Given the description of an element on the screen output the (x, y) to click on. 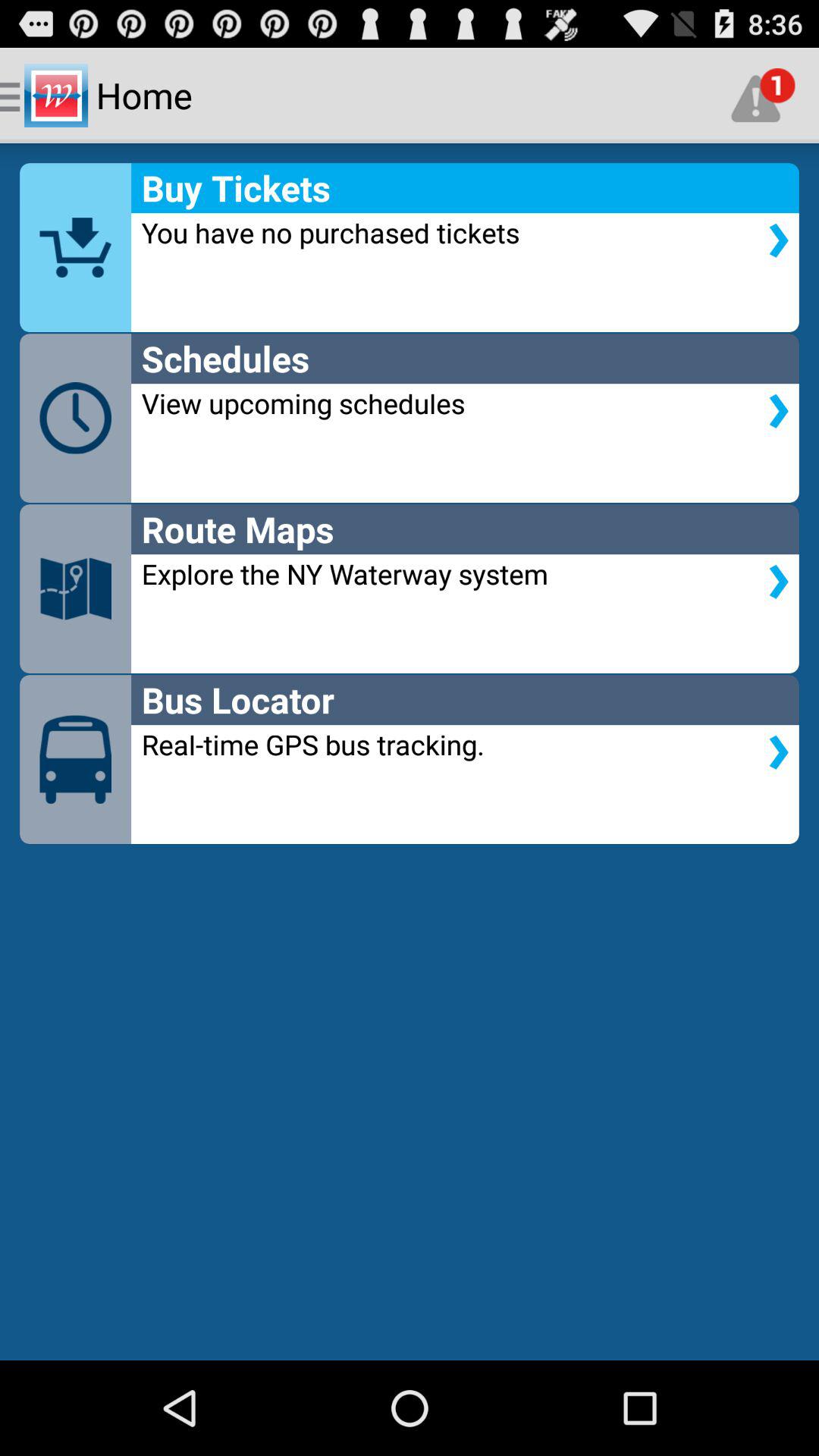
turn off the item next to home icon (763, 95)
